Given the description of an element on the screen output the (x, y) to click on. 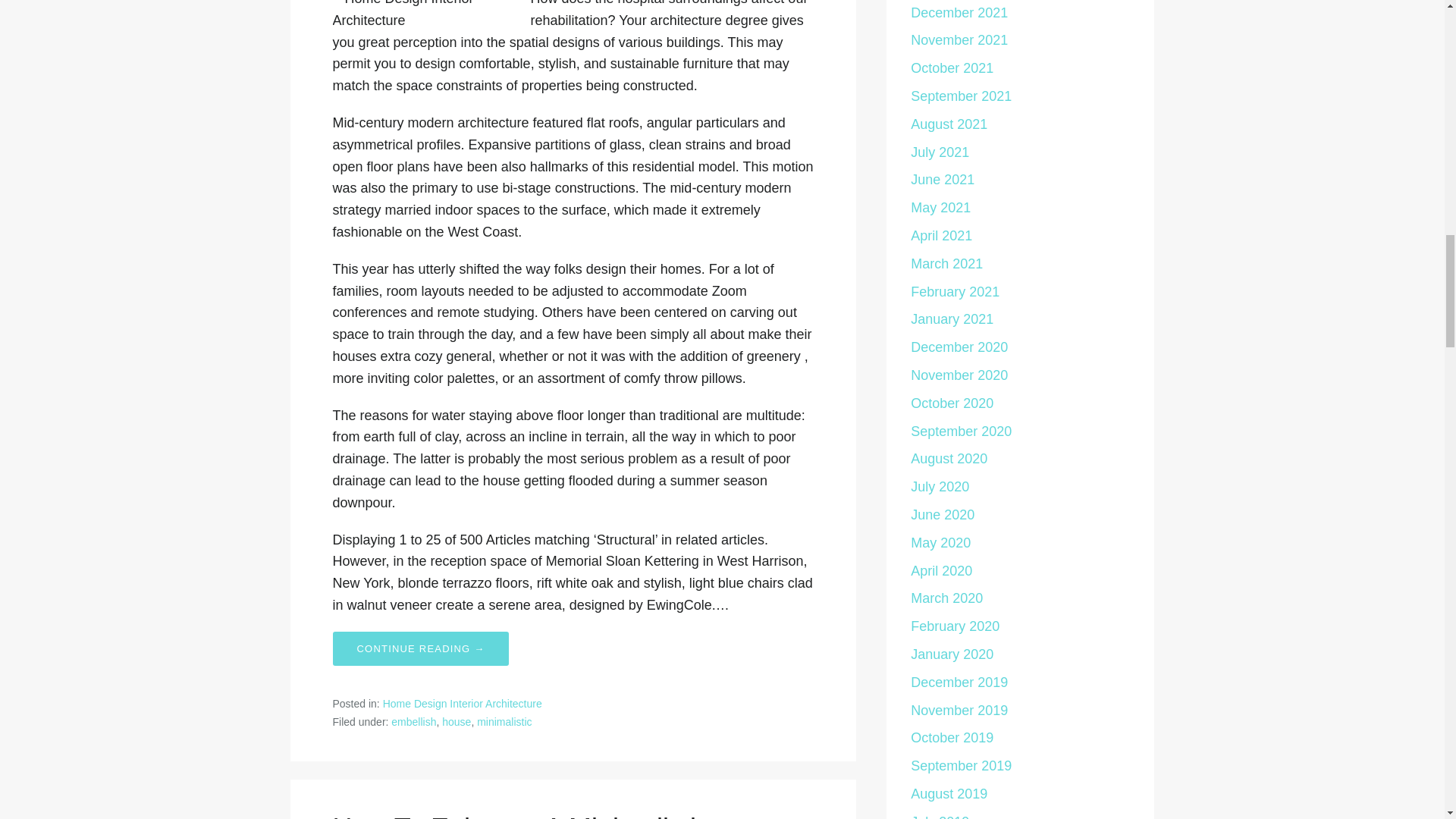
Home Design Interior Architecture (461, 703)
house (456, 721)
embellish (413, 721)
How To Enhance A Minimalistic Dwelling (520, 816)
minimalistic (504, 721)
